Given the description of an element on the screen output the (x, y) to click on. 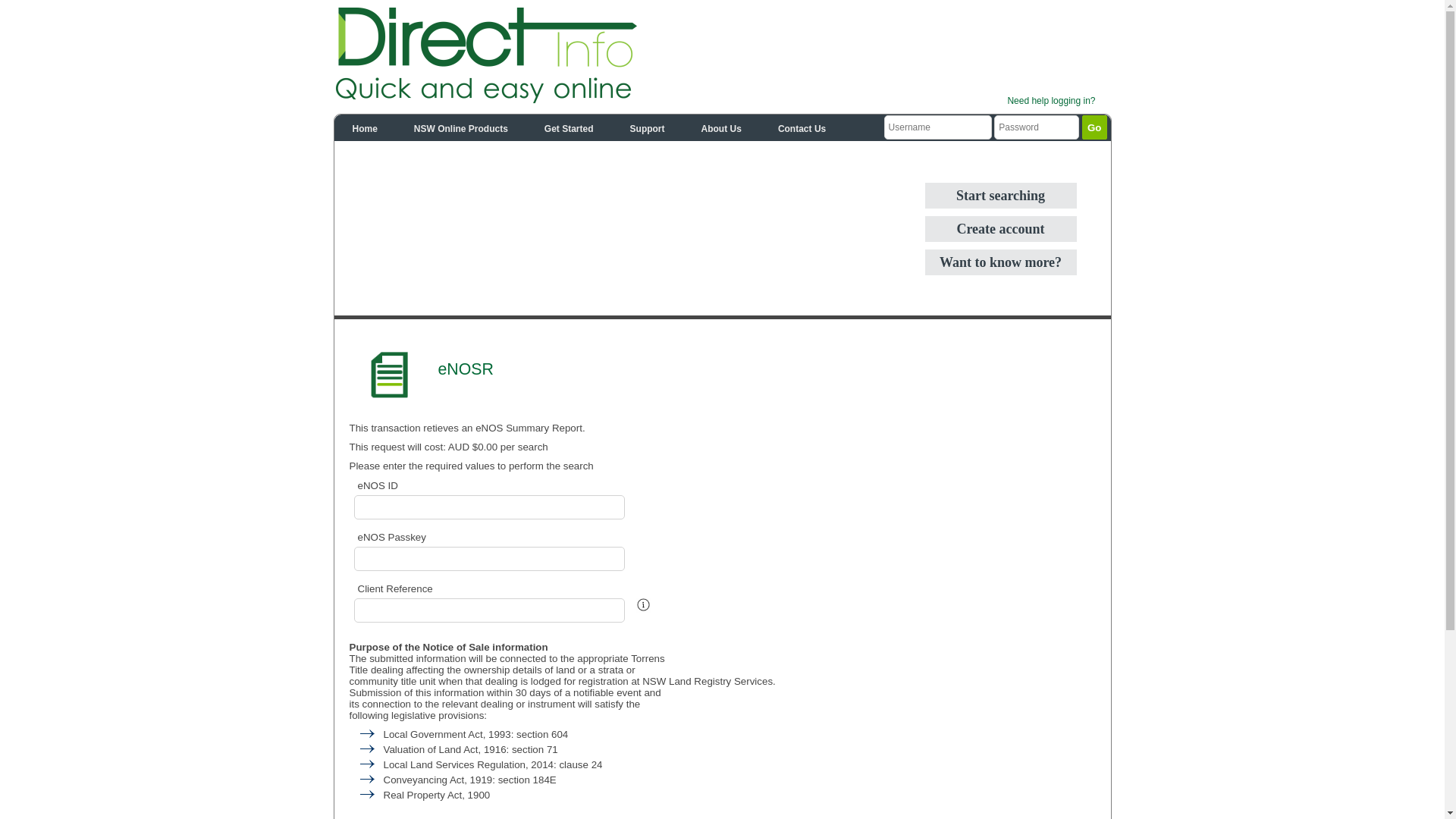
Home Element type: text (364, 127)
Want to know more? Element type: text (1000, 262)
Start searching Element type: text (1000, 195)
Create account Element type: text (1000, 228)
About Us Element type: text (721, 127)
Support Element type: text (647, 127)
Get Started Element type: text (568, 127)
Contact Us Element type: text (801, 127)
NSW Online Products Element type: text (460, 127)
Go Element type: text (1094, 127)
Need help logging in? Element type: text (1051, 100)
